Given the description of an element on the screen output the (x, y) to click on. 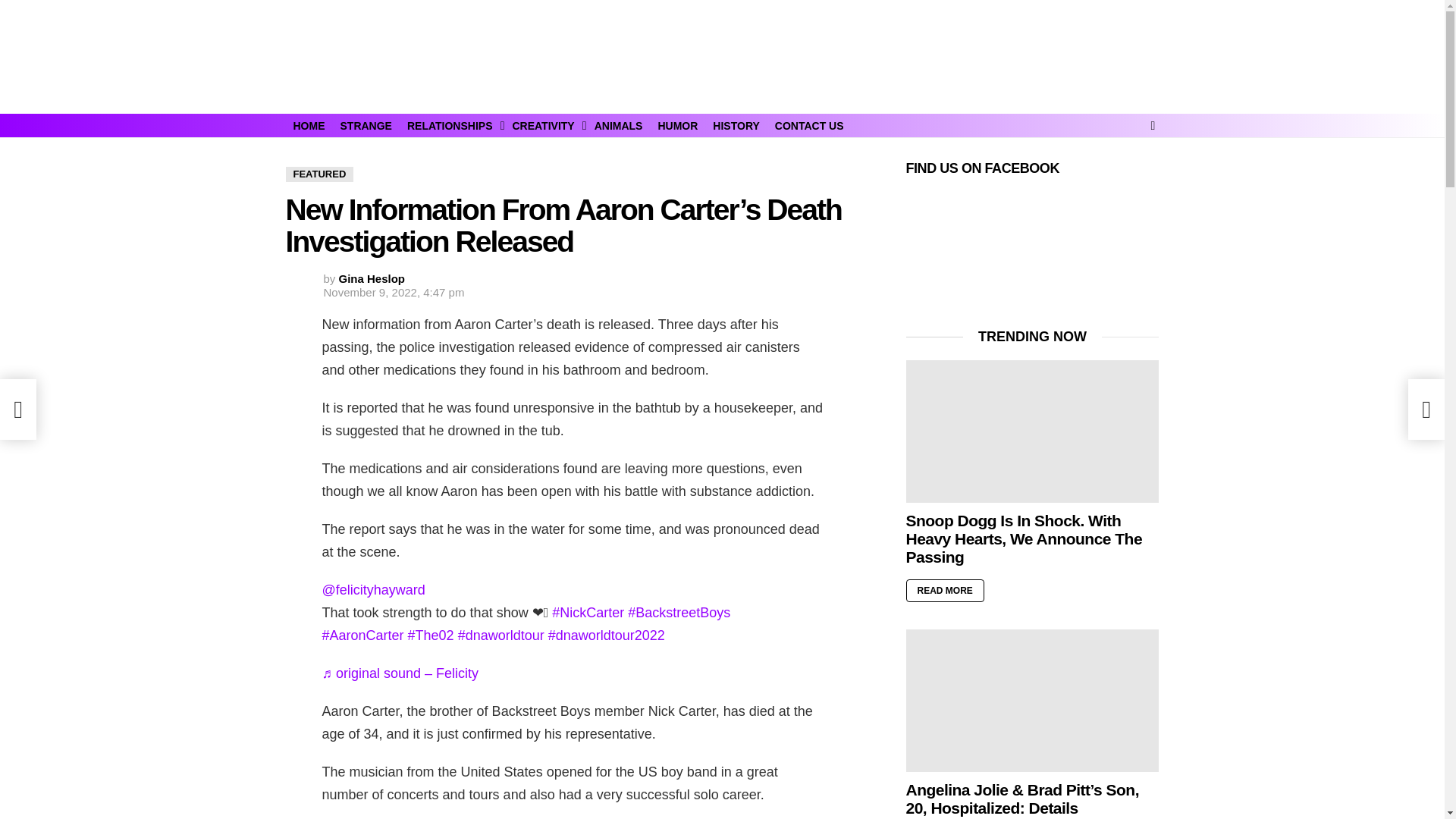
aaroncarter (362, 635)
Posts by Gina Heslop (372, 278)
HUMOR (676, 125)
HOME (308, 125)
CONTACT US (809, 125)
FEATURED (319, 174)
RELATIONSHIPS (451, 125)
ANIMALS (618, 125)
HISTORY (735, 125)
STRANGE (364, 125)
